Given the description of an element on the screen output the (x, y) to click on. 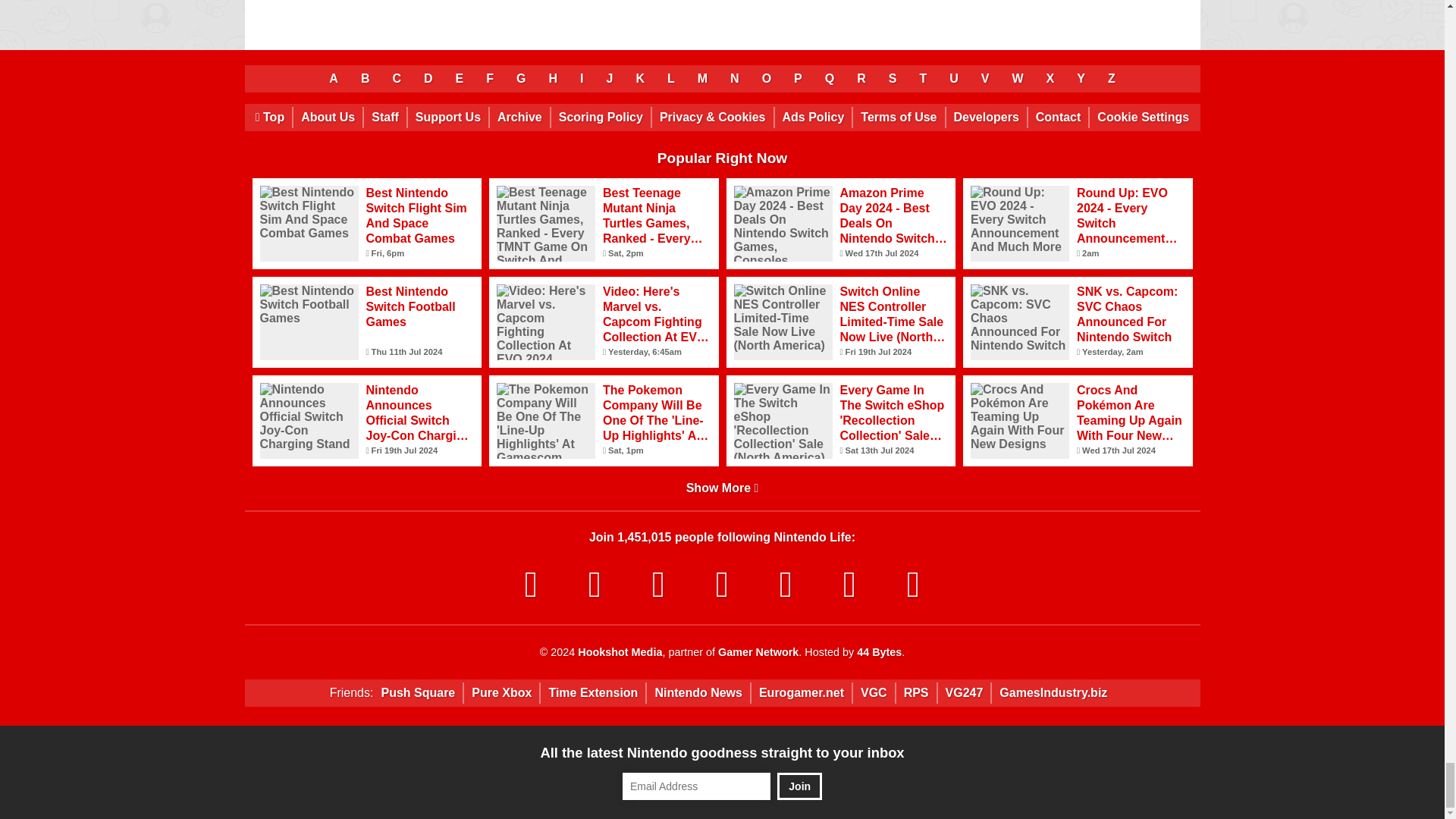
Join (799, 786)
